Given the description of an element on the screen output the (x, y) to click on. 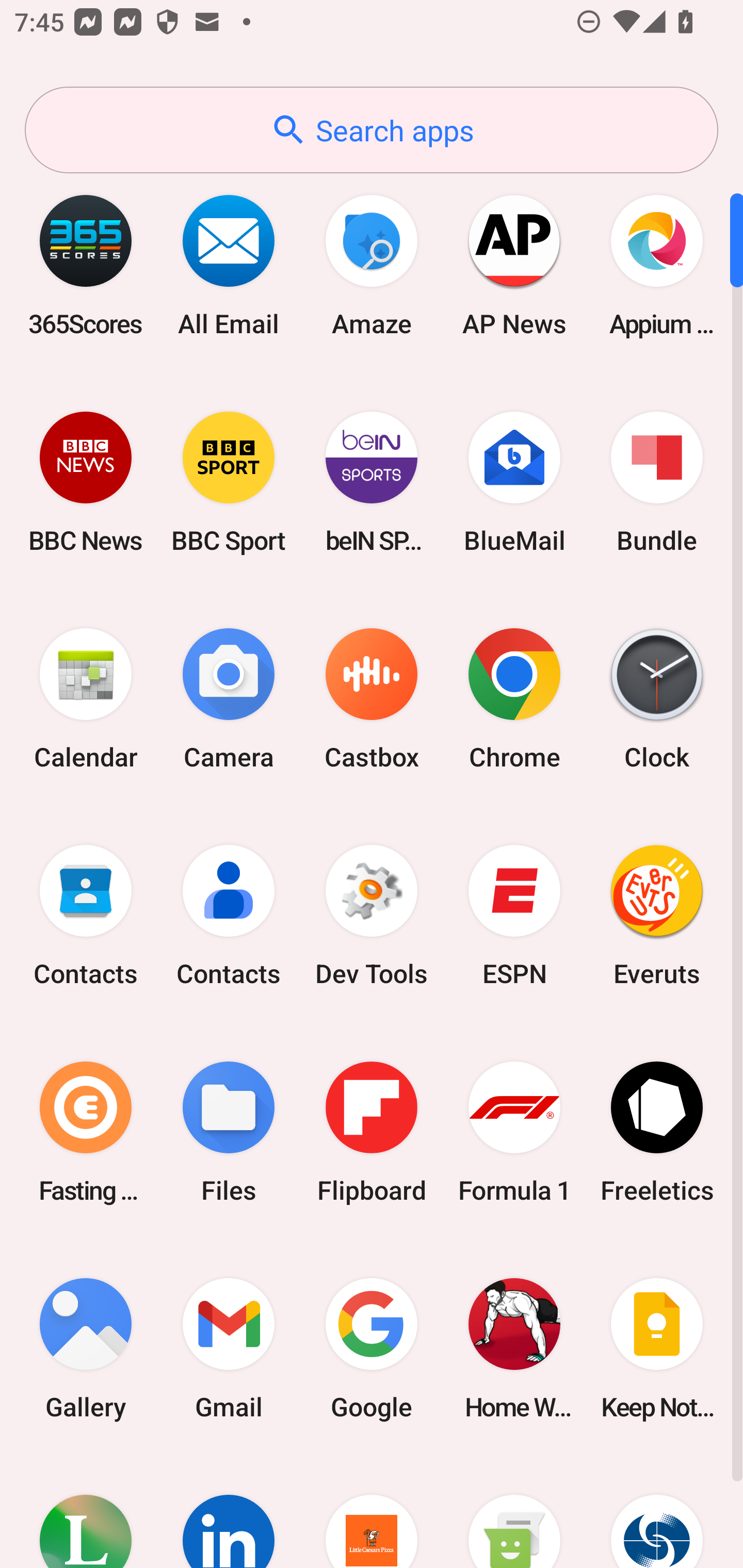
  Search apps (371, 130)
365Scores (85, 264)
All Email (228, 264)
Amaze (371, 264)
AP News (514, 264)
Appium Settings (656, 264)
BBC News (85, 482)
BBC Sport (228, 482)
beIN SPORTS (371, 482)
BlueMail (514, 482)
Bundle (656, 482)
Calendar (85, 699)
Camera (228, 699)
Castbox (371, 699)
Chrome (514, 699)
Clock (656, 699)
Contacts (85, 915)
Contacts (228, 915)
Dev Tools (371, 915)
ESPN (514, 915)
Everuts (656, 915)
Fasting Coach (85, 1131)
Files (228, 1131)
Flipboard (371, 1131)
Formula 1 (514, 1131)
Freeletics (656, 1131)
Gallery (85, 1348)
Gmail (228, 1348)
Google (371, 1348)
Home Workout (514, 1348)
Keep Notes (656, 1348)
